Given the description of an element on the screen output the (x, y) to click on. 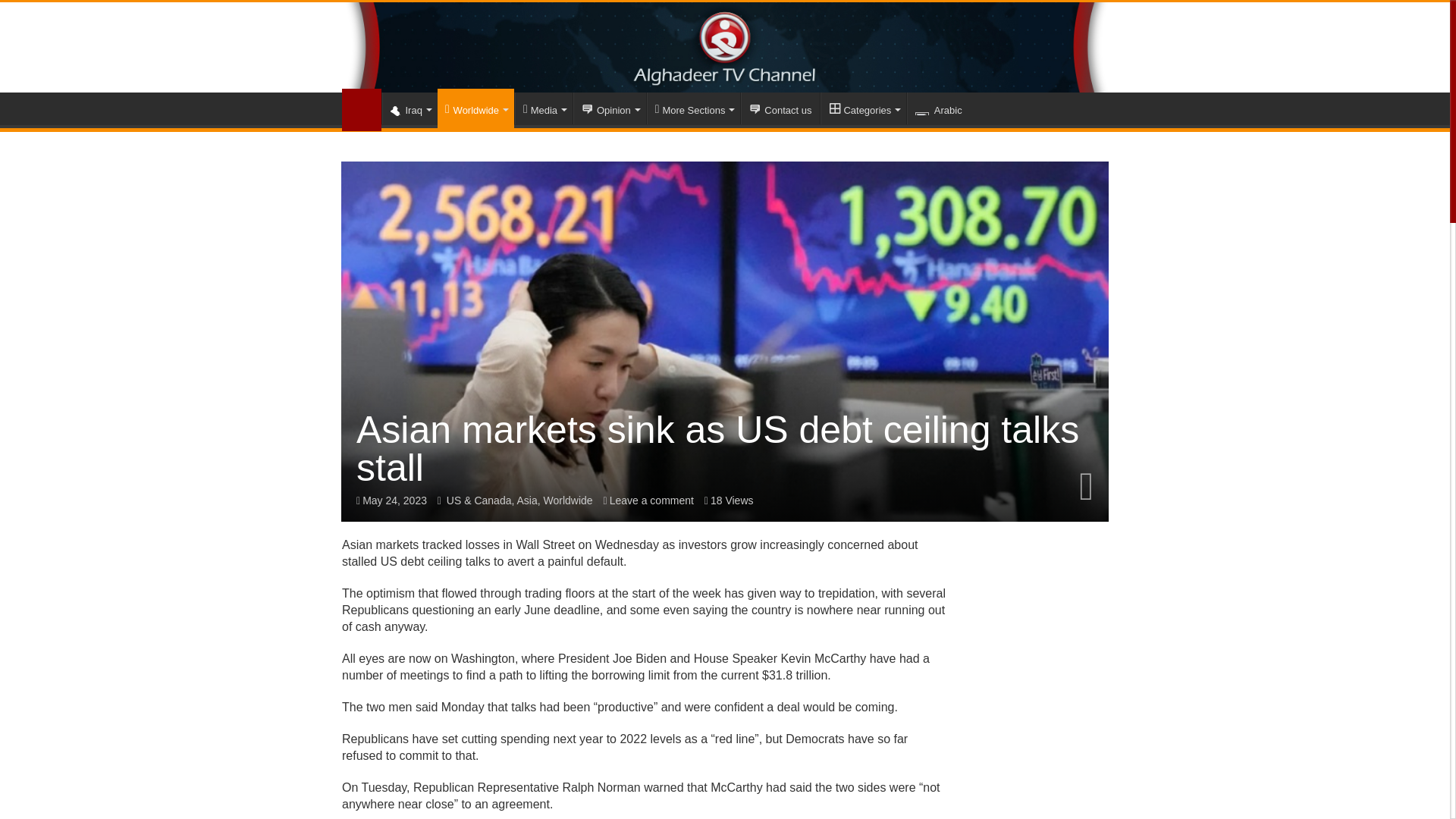
Iraq (409, 108)
Alghadeer TV (725, 47)
Worldwide (475, 107)
Home (361, 109)
